Given the description of an element on the screen output the (x, y) to click on. 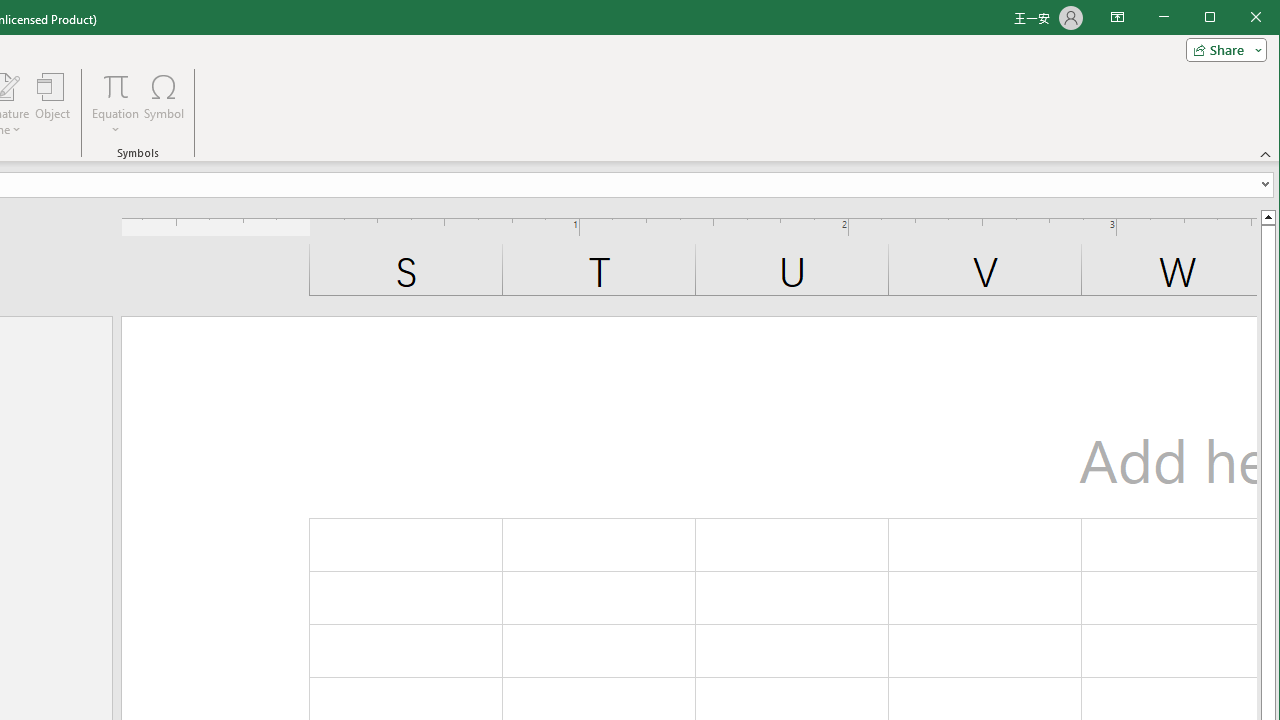
Object... (53, 104)
Maximize (1238, 18)
Equation (115, 104)
Equation (115, 86)
Symbol... (164, 104)
